Given the description of an element on the screen output the (x, y) to click on. 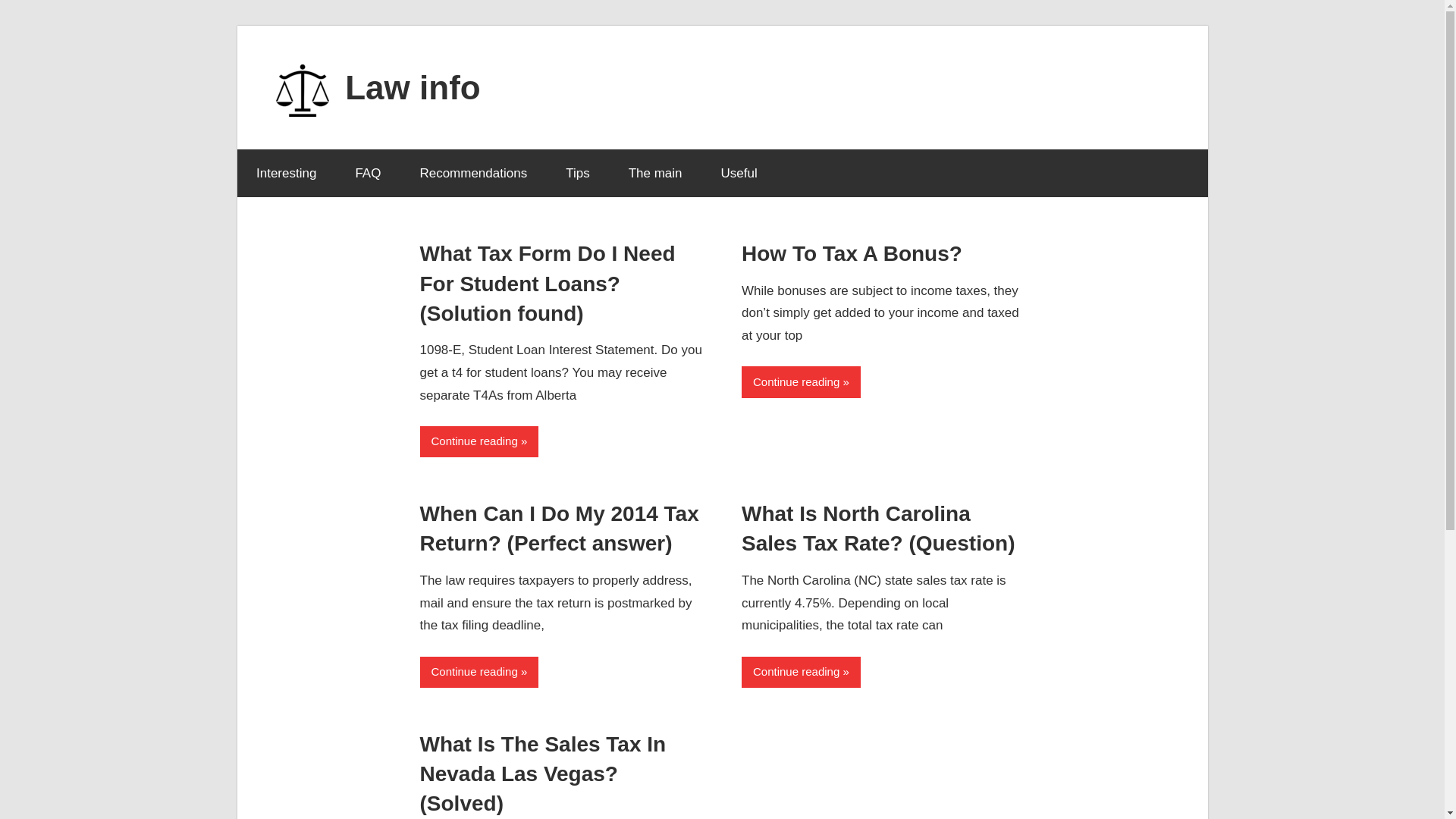
How To Tax A Bonus? (851, 253)
Continue reading (800, 381)
Continue reading (800, 671)
FAQ (368, 172)
Useful (738, 172)
Recommendations (473, 172)
Law info (412, 86)
Continue reading (479, 671)
Continue reading (479, 441)
Interesting (284, 172)
The main (654, 172)
Tips (578, 172)
